Given the description of an element on the screen output the (x, y) to click on. 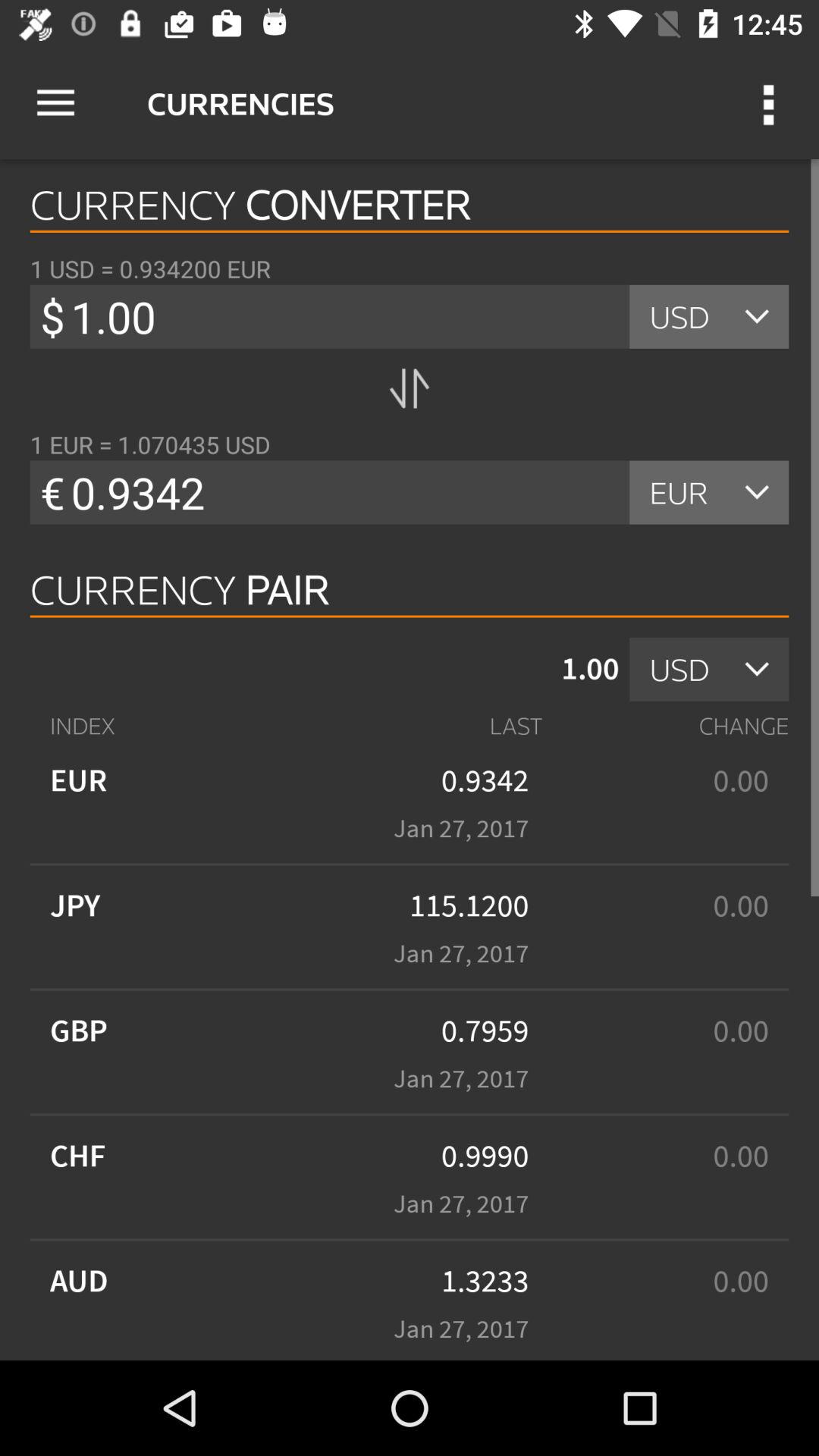
turn on item above the currency converter (771, 103)
